Given the description of an element on the screen output the (x, y) to click on. 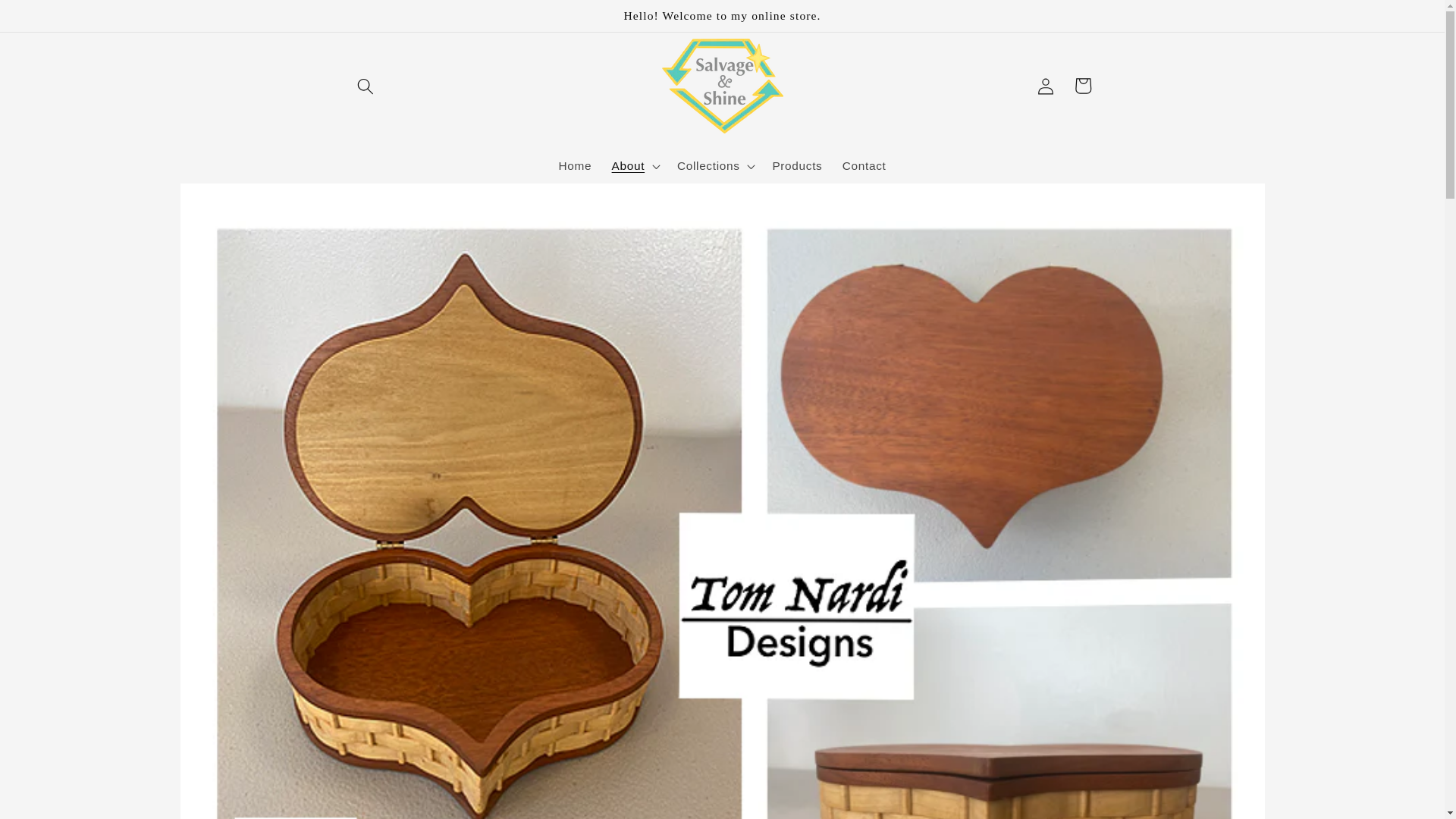
Home (574, 165)
Skip to content (50, 20)
